Given the description of an element on the screen output the (x, y) to click on. 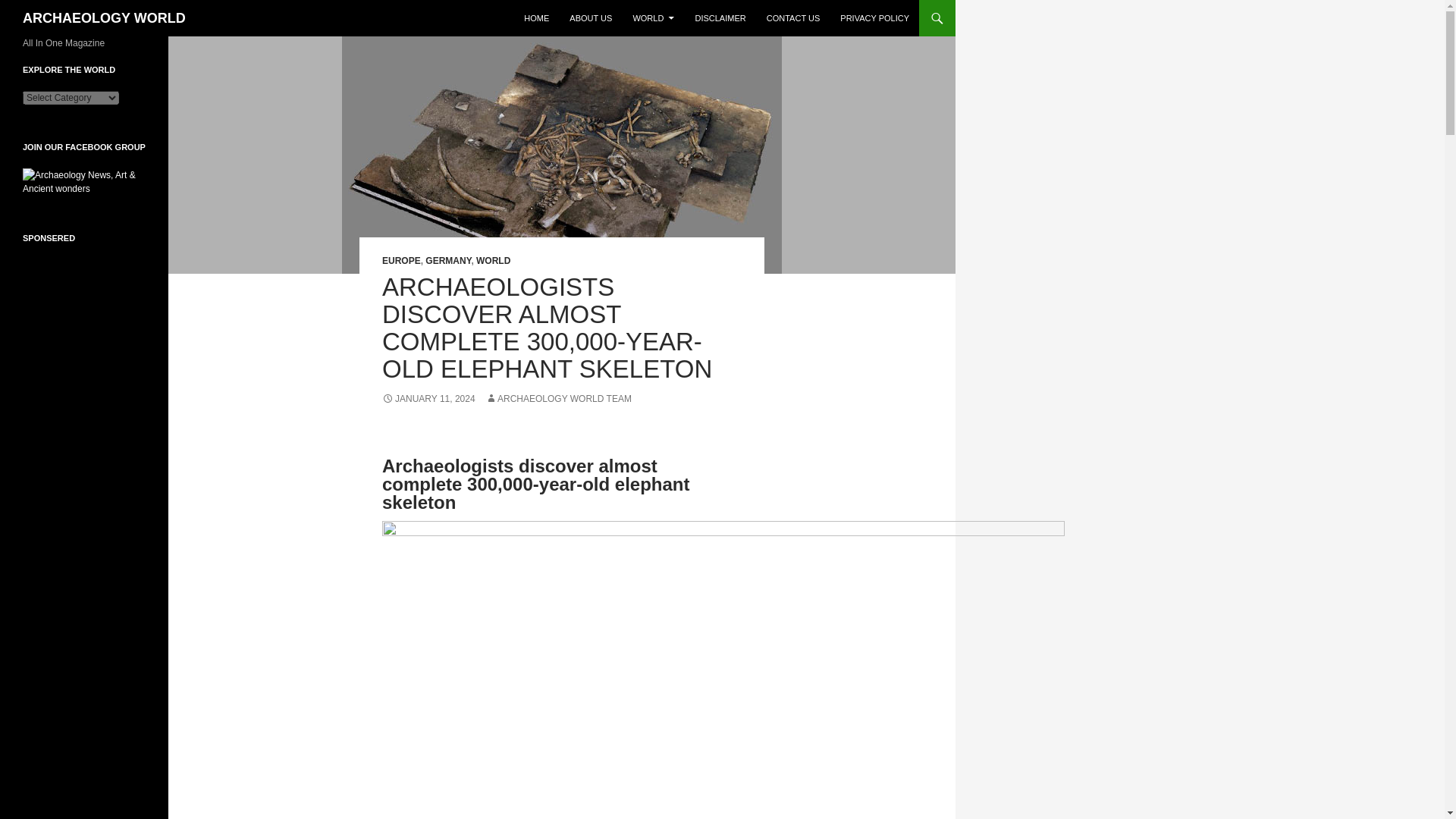
ARCHAEOLOGY WORLD (104, 18)
ABOUT US (590, 18)
WORLD (652, 18)
HOME (536, 18)
